Given the description of an element on the screen output the (x, y) to click on. 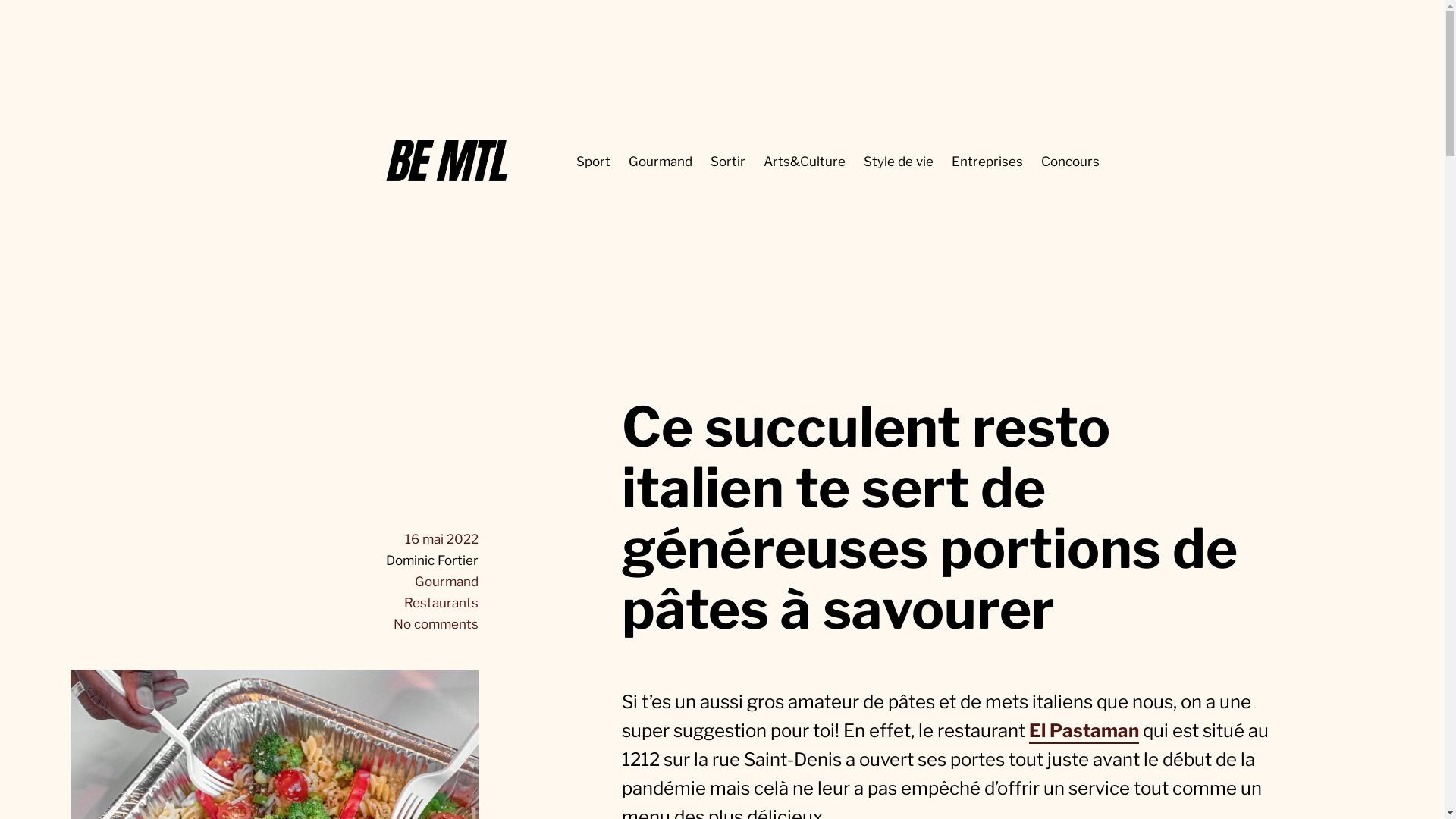
Restaurants Element type: text (441, 602)
Sport Element type: text (593, 161)
Style de vie Element type: text (898, 161)
Concours Element type: text (1070, 161)
Entreprises Element type: text (986, 161)
El Pastaman Element type: text (1084, 730)
Arts&Culture Element type: text (804, 161)
Gourmand Element type: text (446, 581)
Gourmand Element type: text (660, 161)
16 mai 2022 Element type: text (441, 538)
Sortir Element type: text (727, 161)
